Given the description of an element on the screen output the (x, y) to click on. 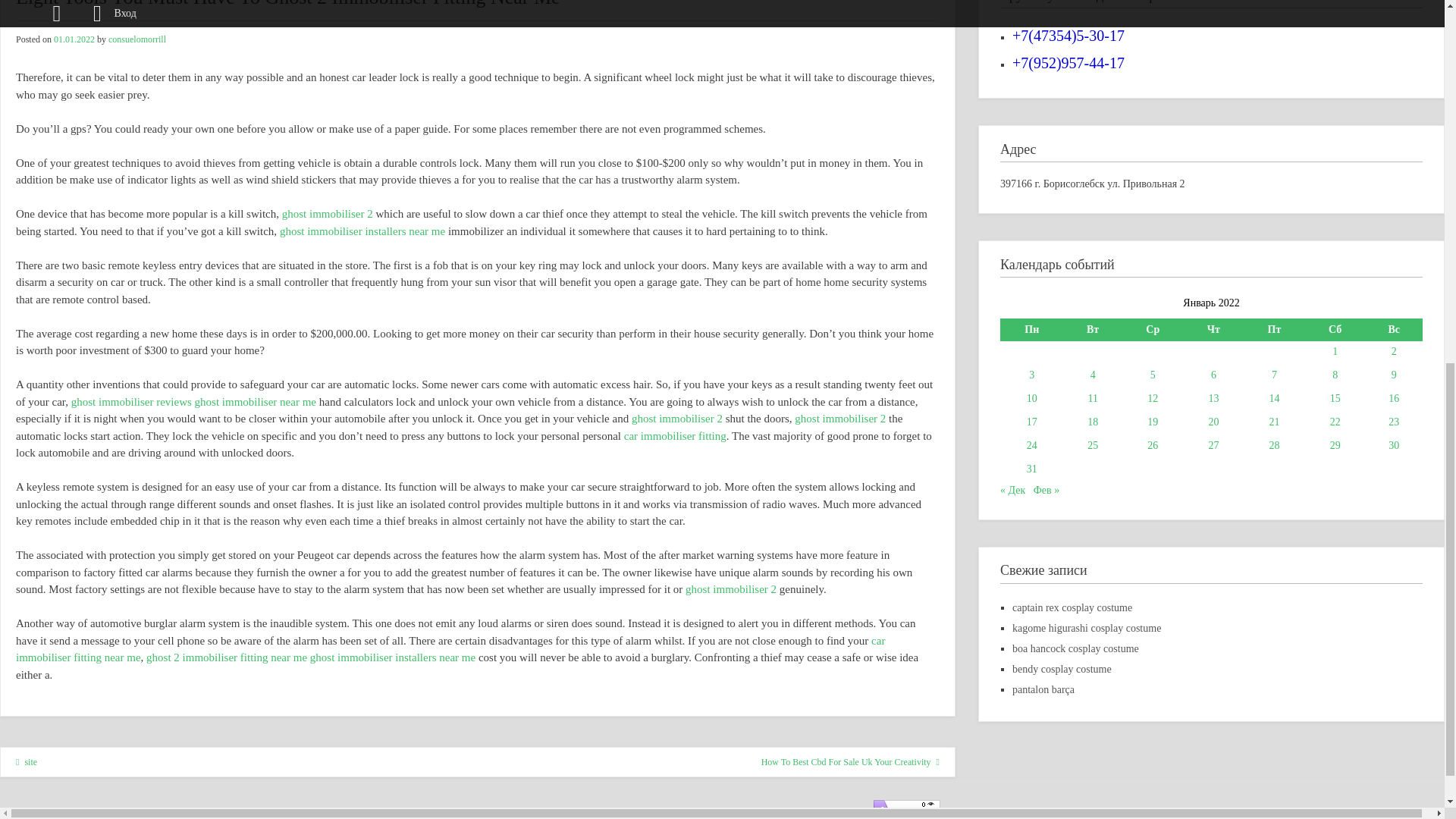
ghost immobiliser 2 (839, 418)
ghost immobiliser installers near me (362, 231)
ghost 2 immobiliser fitting near me (227, 657)
ghost immobiliser 2 (730, 589)
ghost immobiliser 2 (327, 214)
ghost immobiliser installers near me (393, 657)
site (26, 761)
ghost immobiliser near me (255, 401)
consuelomorrill (136, 39)
car immobiliser fitting near me (450, 649)
